Given the description of an element on the screen output the (x, y) to click on. 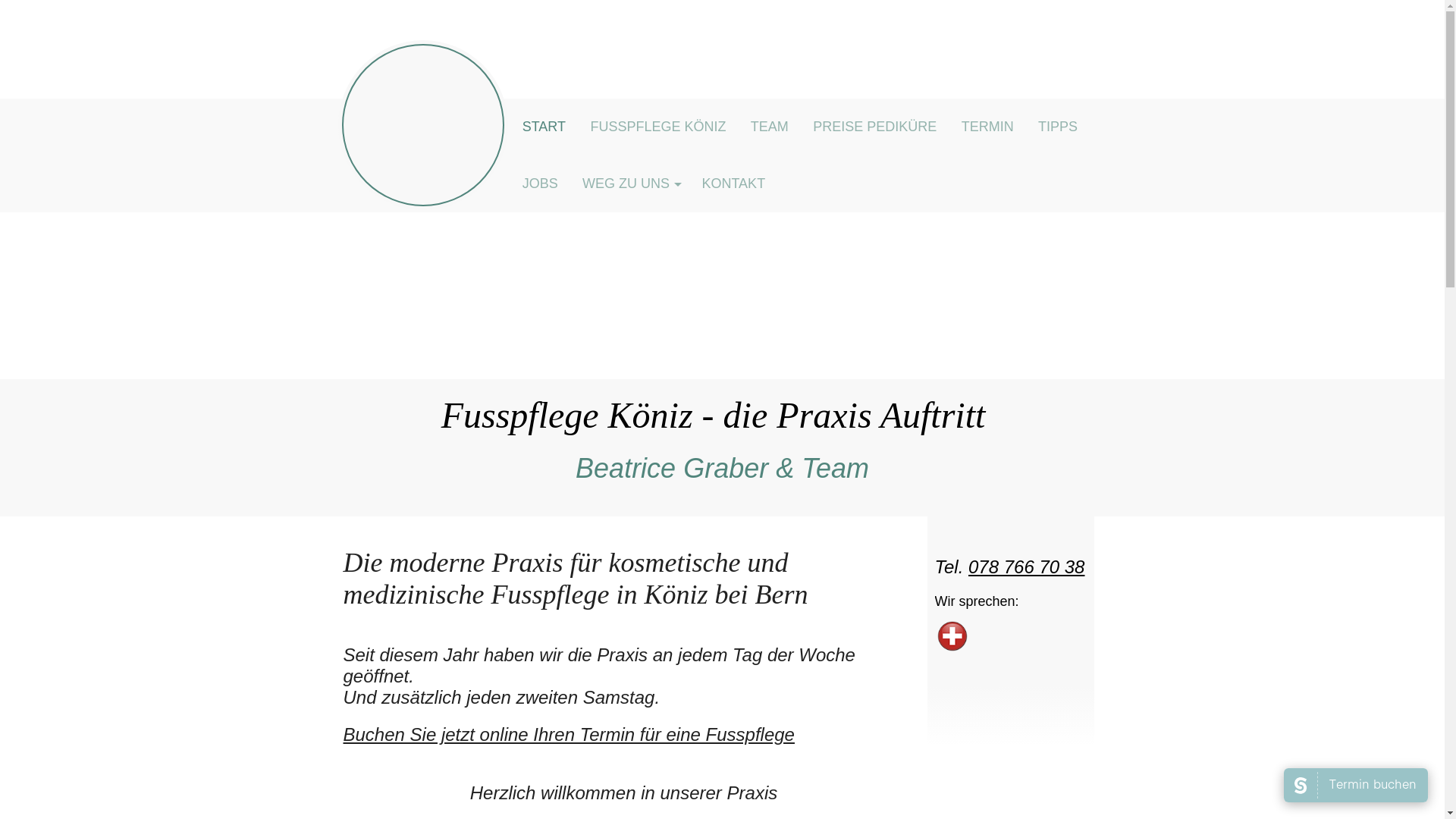
START Element type: text (543, 126)
  Element type: text (422, 124)
078 766 70 38 Element type: text (1026, 566)
TERMIN Element type: text (986, 126)
TEAM Element type: text (769, 126)
JOBS Element type: text (539, 183)
KONTAKT Element type: text (733, 183)
TIPPS Element type: text (1057, 126)
WEG ZU UNS Element type: text (629, 183)
